Given the description of an element on the screen output the (x, y) to click on. 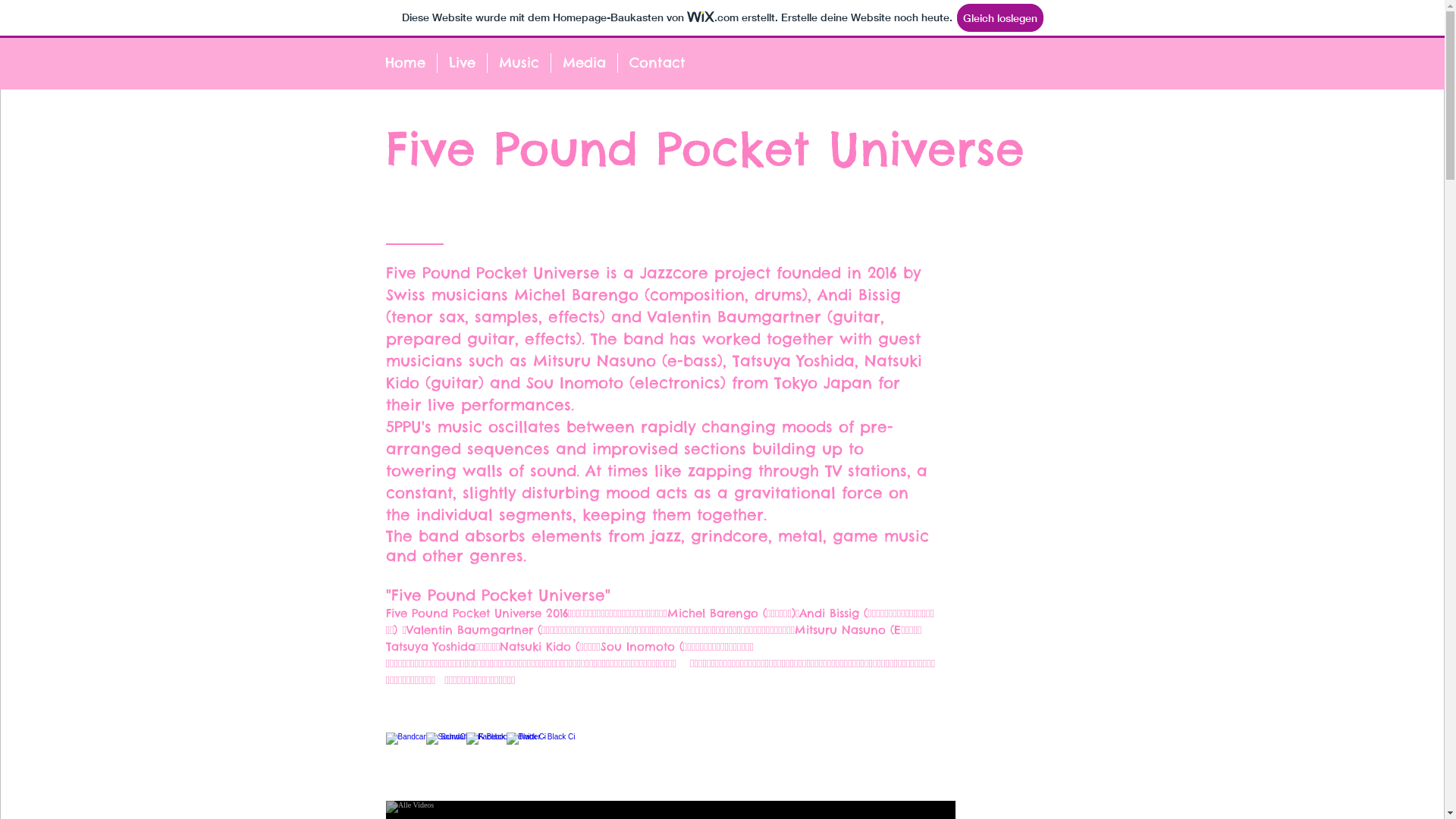
Home Element type: text (404, 62)
Media Element type: text (583, 62)
Contact Element type: text (656, 62)
Music Element type: text (517, 62)
Live Element type: text (461, 62)
